Given the description of an element on the screen output the (x, y) to click on. 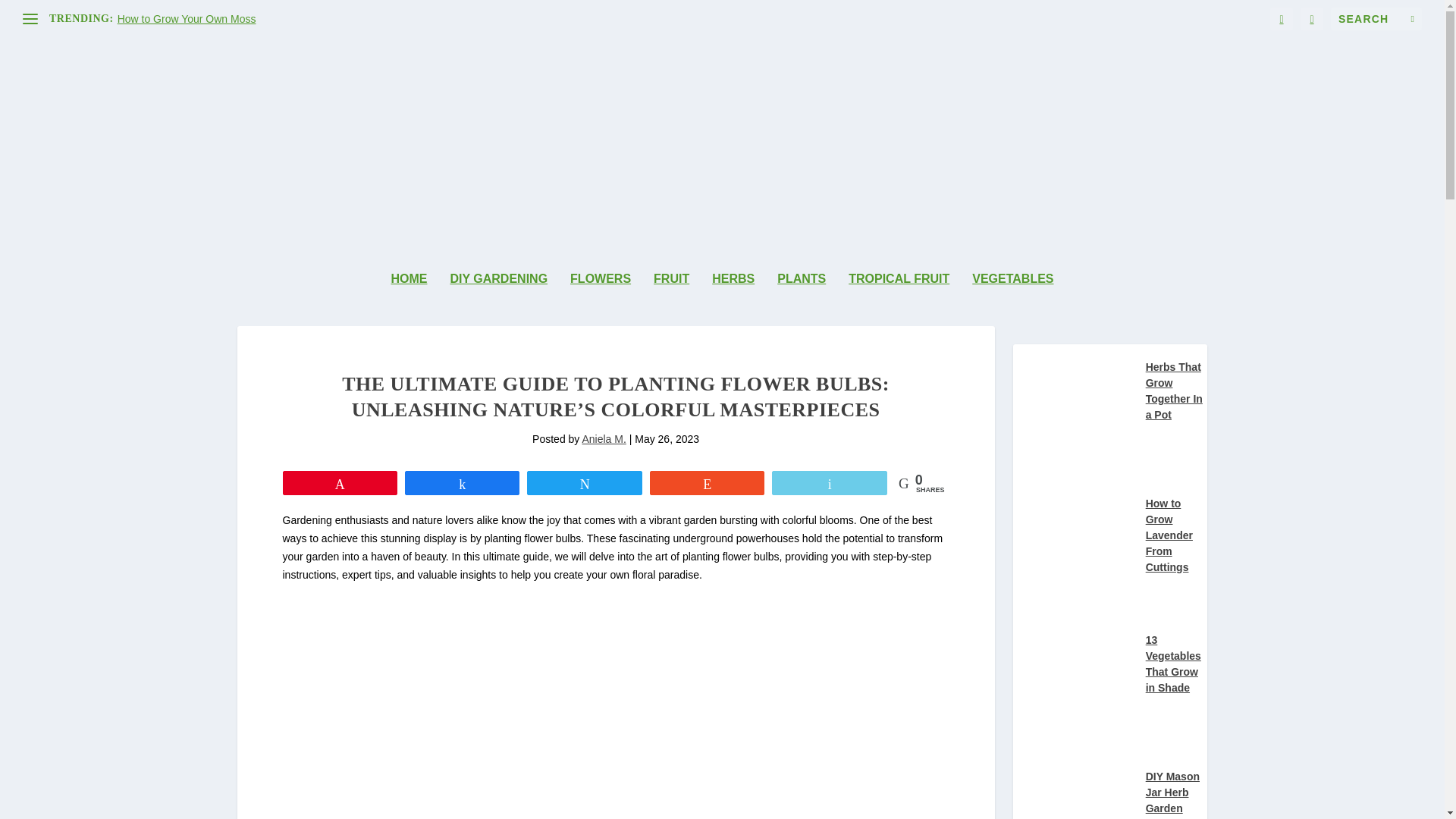
Posts by Aniela M. (603, 439)
VEGETABLES (1012, 298)
How to Grow Your Own Moss (186, 19)
Aniela M. (603, 439)
FLOWERS (600, 298)
Search for: (1376, 18)
TROPICAL FRUIT (898, 298)
PLANTS (801, 298)
DIY GARDENING (498, 298)
